Given the description of an element on the screen output the (x, y) to click on. 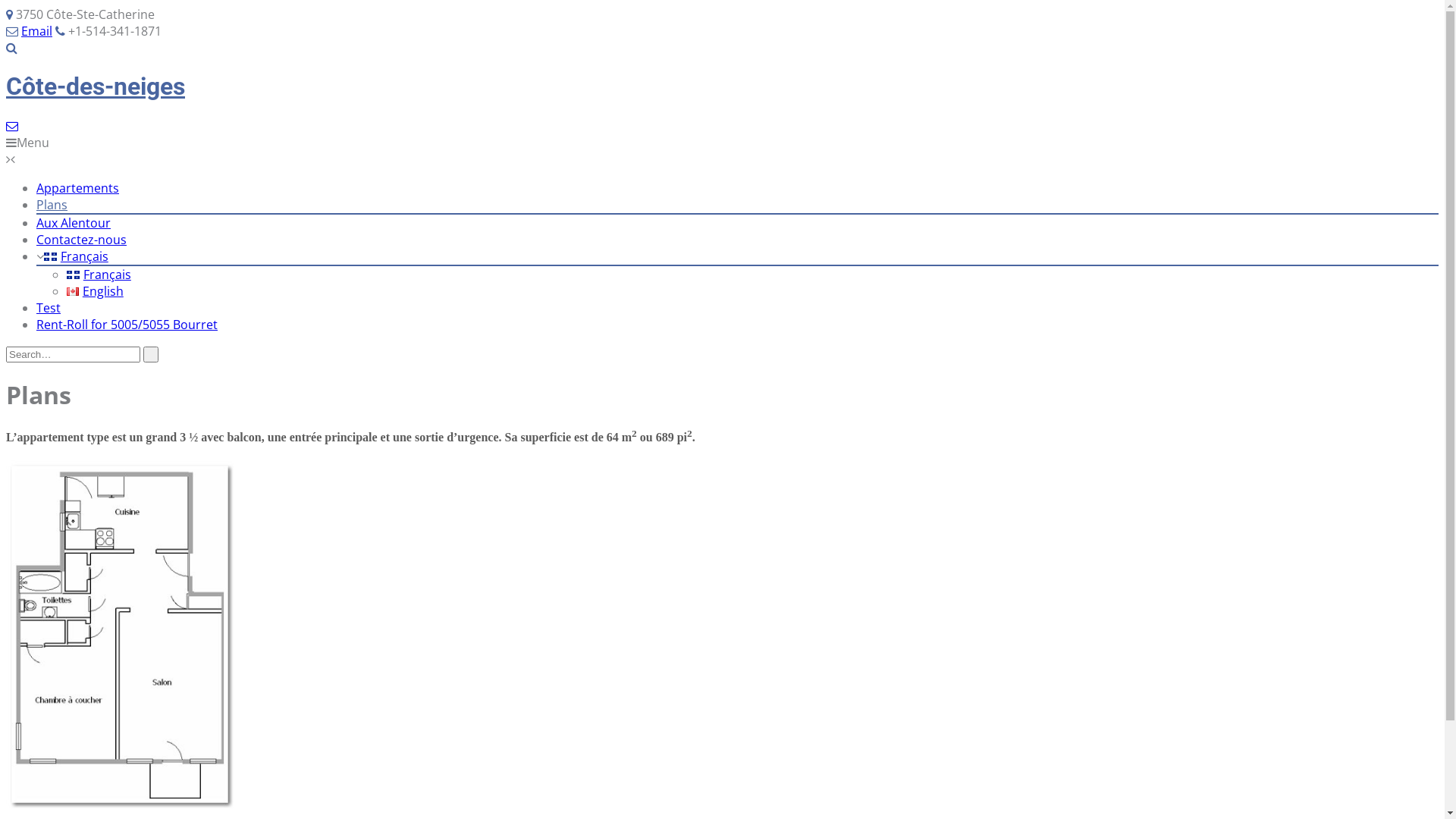
English Element type: text (94, 290)
Search for: Element type: hover (73, 354)
Email Element type: text (36, 30)
Appartements Element type: text (77, 187)
Send Us an Email Element type: hover (12, 125)
Aux Alentour Element type: text (73, 222)
Test Element type: text (48, 307)
English Element type: hover (72, 291)
Rent-Roll for 5005/5055 Bourret Element type: text (126, 324)
Contactez-nous Element type: text (81, 239)
Plans Element type: text (51, 204)
